Given the description of an element on the screen output the (x, y) to click on. 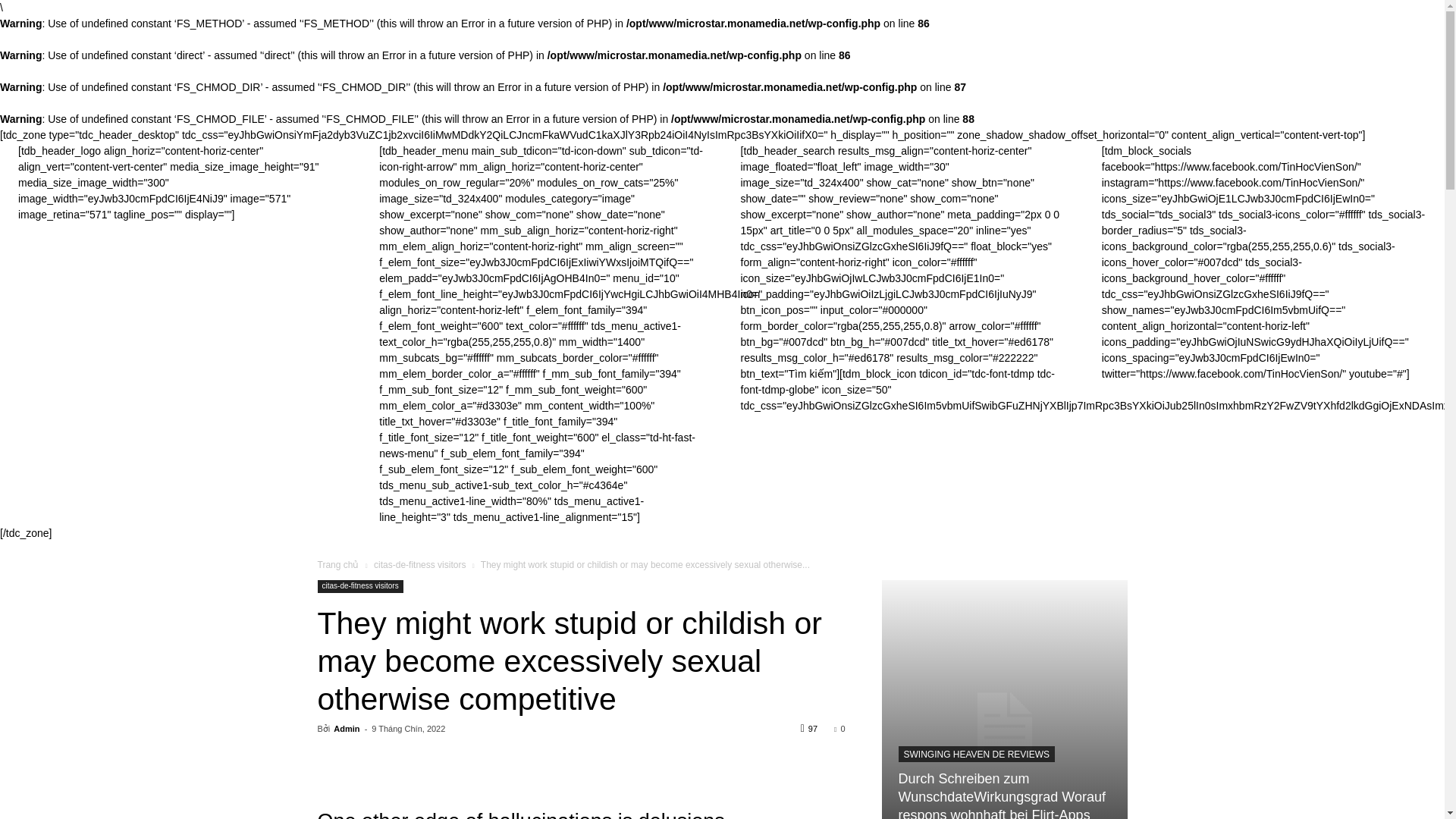
citas-de-fitness visitors (360, 585)
0 (839, 728)
Admin (346, 728)
citas-de-fitness visitors (419, 564)
